Given the description of an element on the screen output the (x, y) to click on. 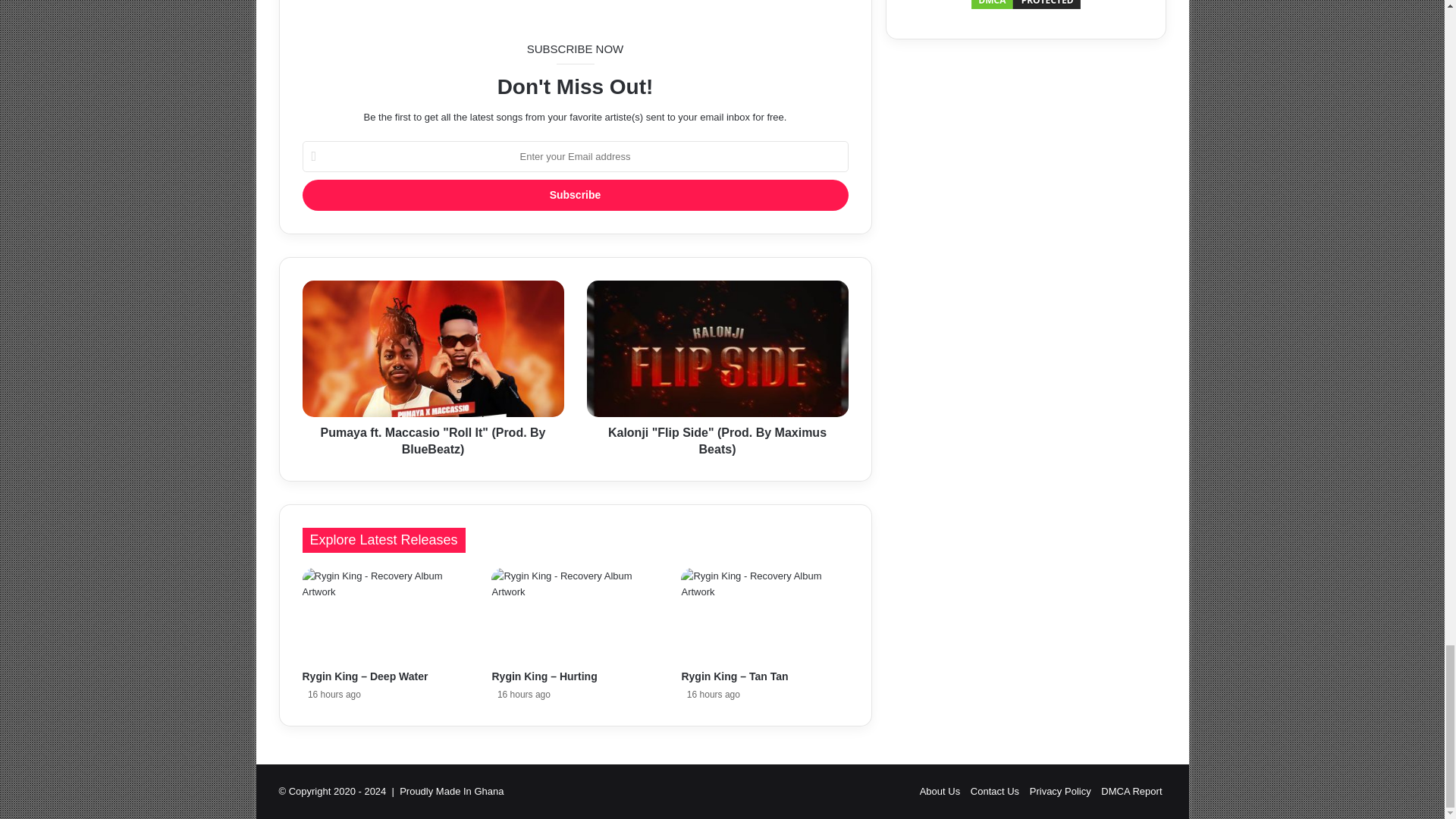
Subscribe (574, 194)
